Given the description of an element on the screen output the (x, y) to click on. 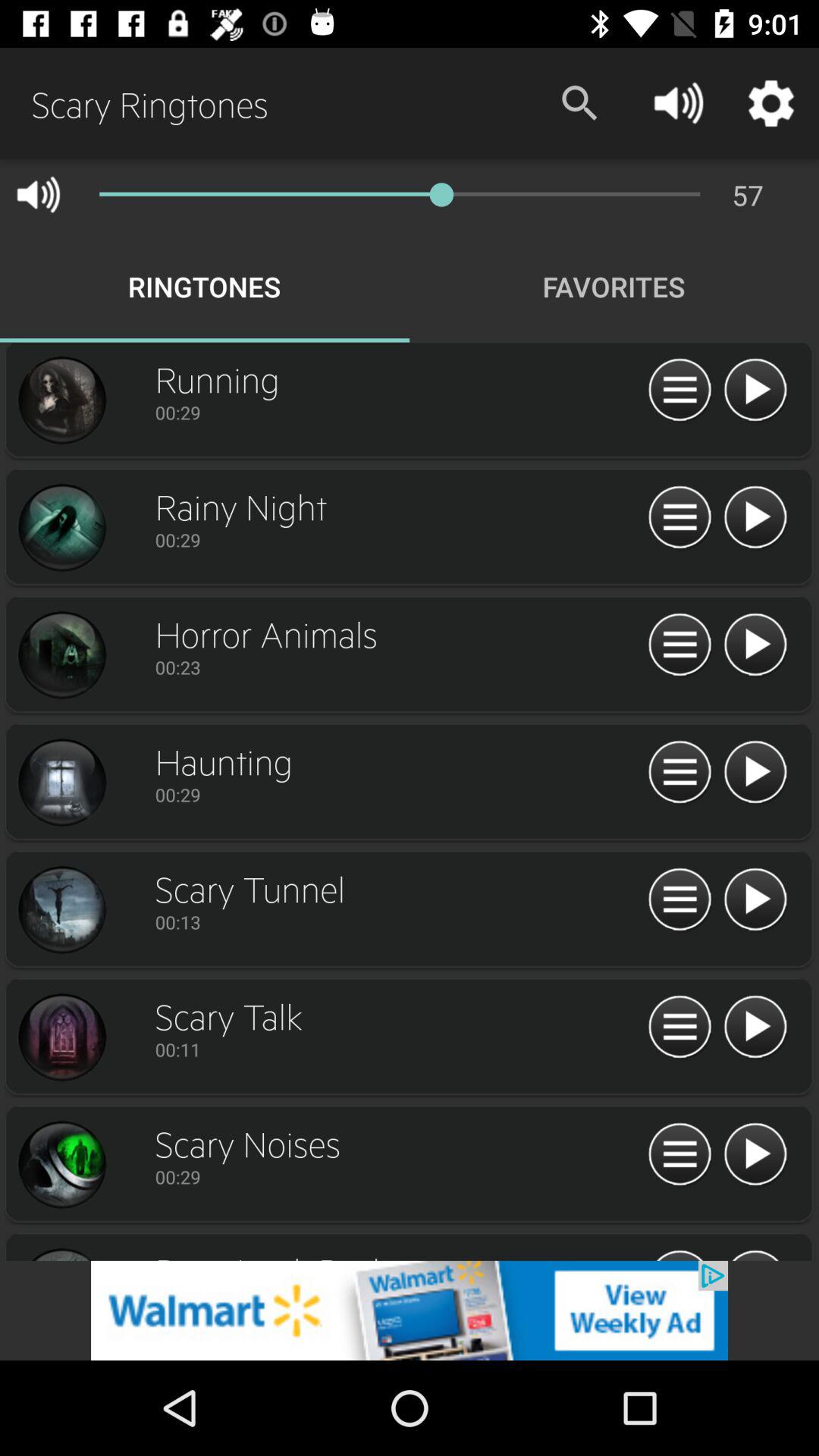
open picture (61, 782)
